Given the description of an element on the screen output the (x, y) to click on. 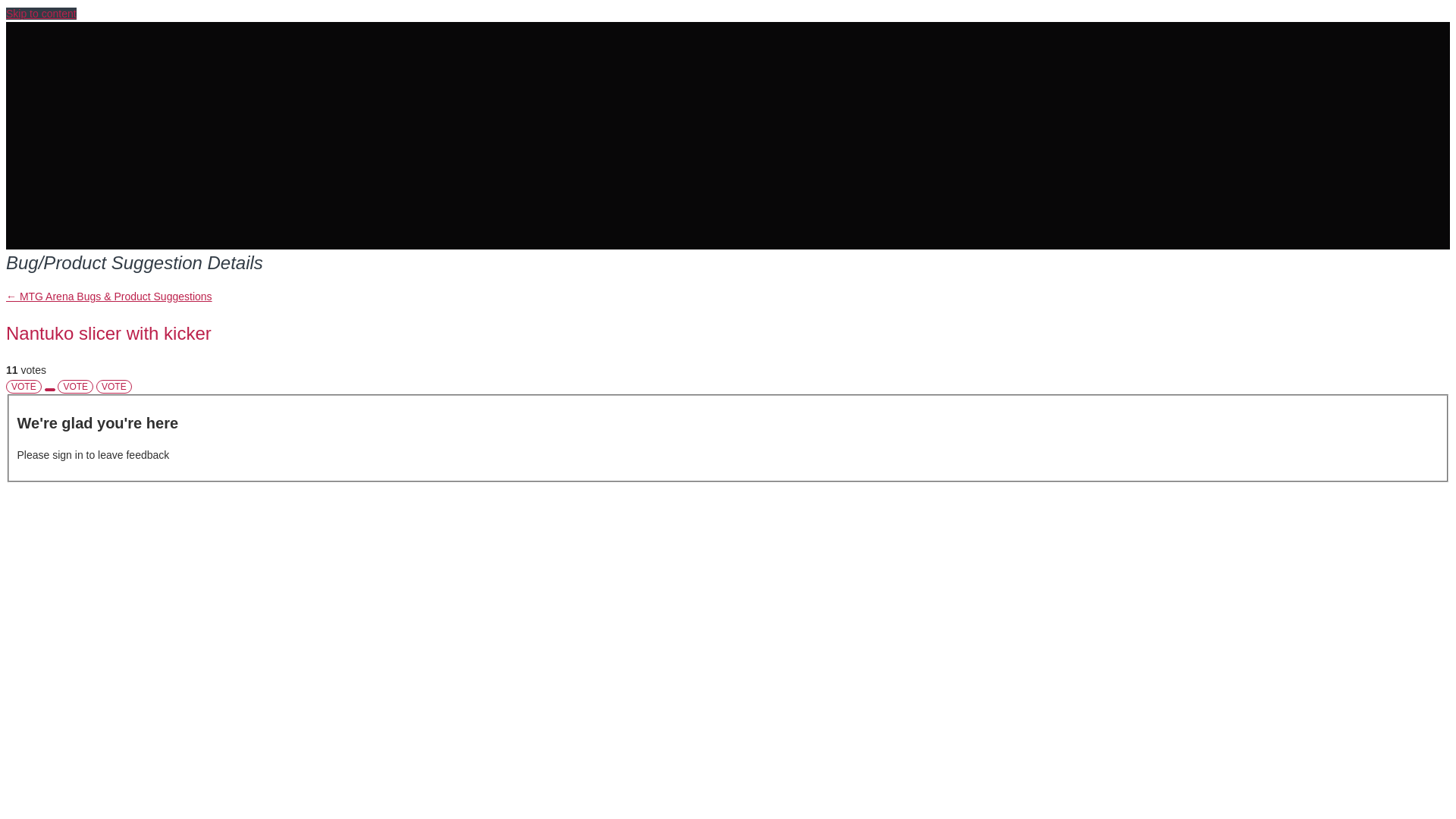
VOTE (114, 386)
Skip to content (41, 13)
Voting has closed (114, 386)
You're out of votes (75, 386)
VOTE (75, 386)
VOTE (23, 386)
